Given the description of an element on the screen output the (x, y) to click on. 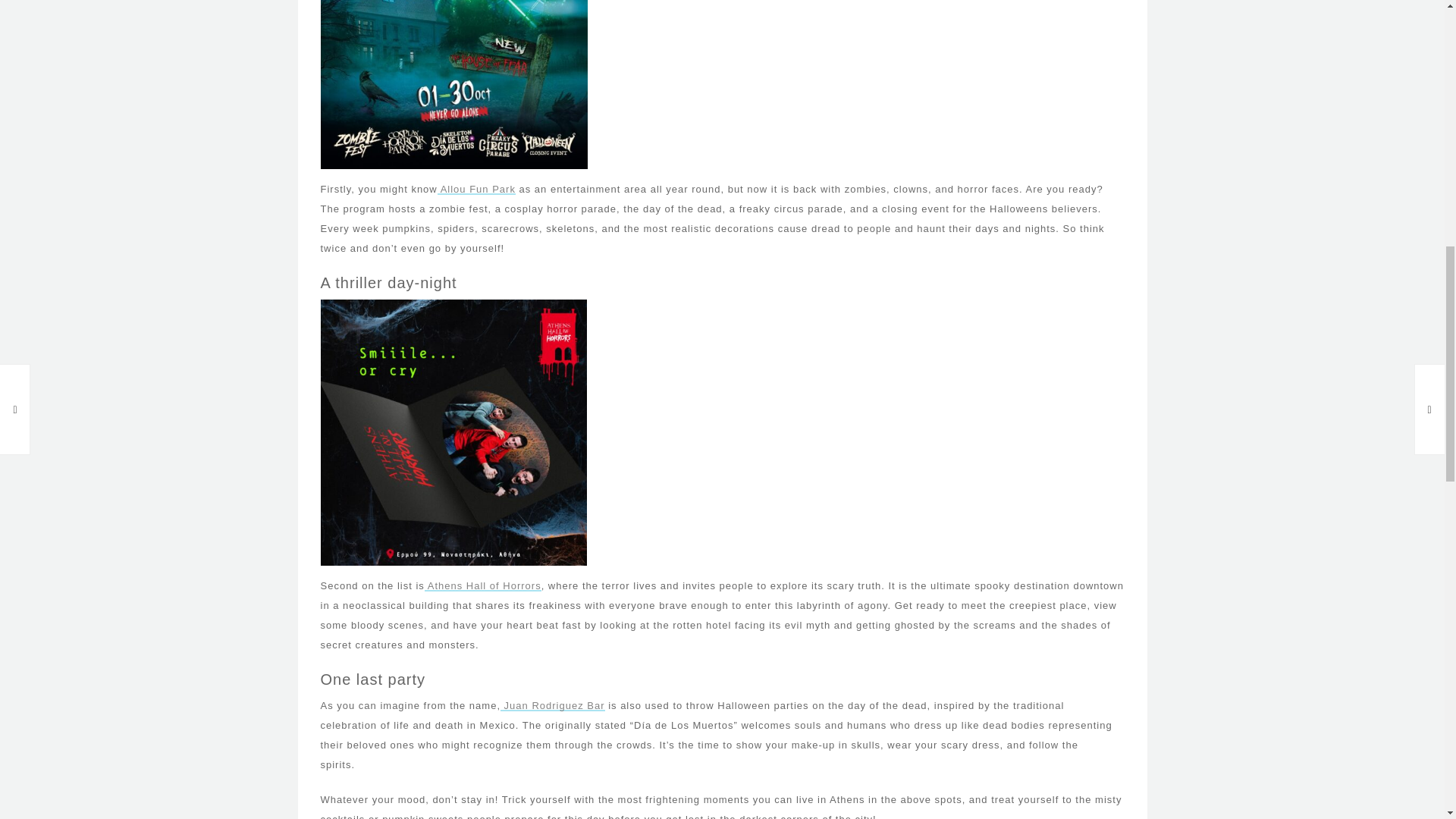
Athens Hall of Horrors (483, 585)
Allou Fun Park (476, 188)
Juan Rodriguez Bar (552, 705)
